Given the description of an element on the screen output the (x, y) to click on. 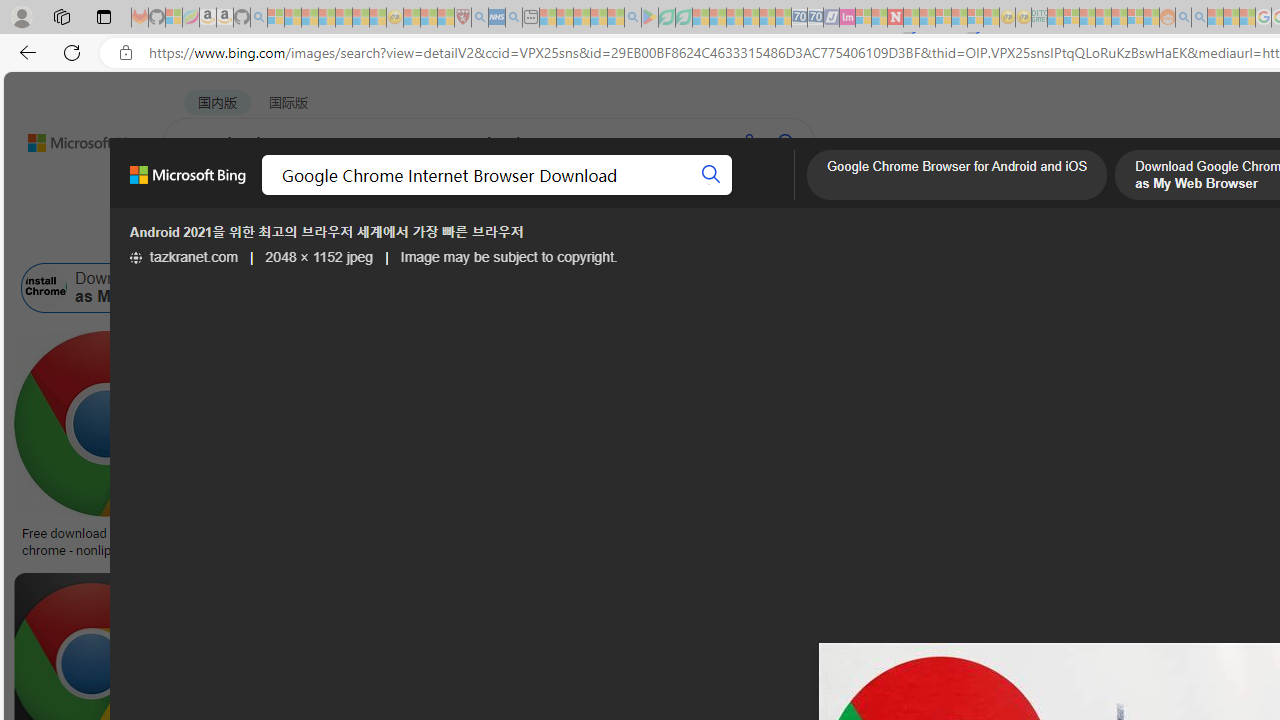
Free download google chrome - nonlipatSave (110, 448)
Type (372, 237)
Free download google chrome - nonlipat (106, 541)
Download video online chrome - hresadish (332, 541)
Google Chrome Search Browser (919, 287)
